Given the description of an element on the screen output the (x, y) to click on. 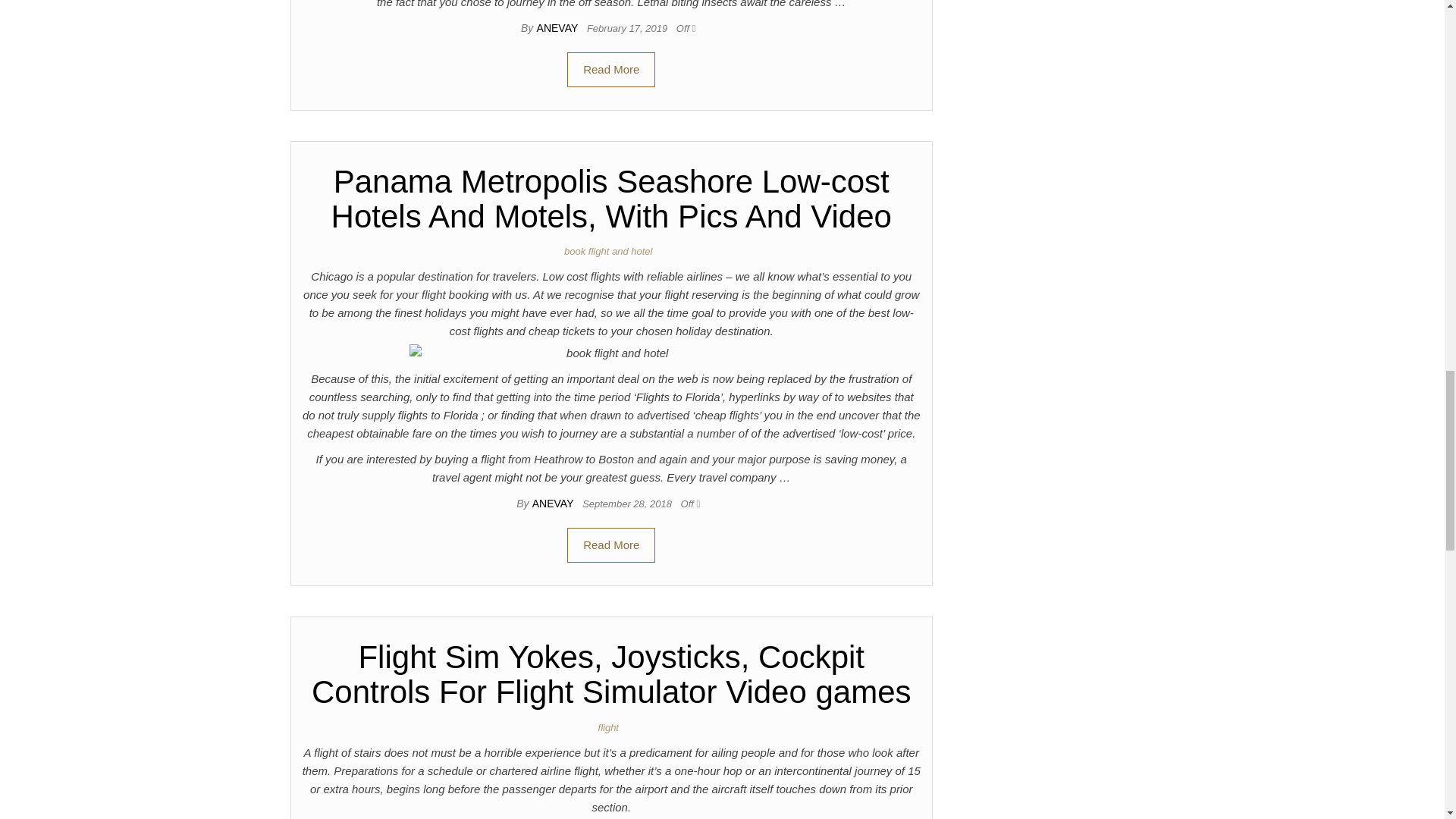
book flight and hotel (611, 251)
ANEVAY (554, 503)
Read More (611, 69)
ANEVAY (558, 28)
